Given the description of an element on the screen output the (x, y) to click on. 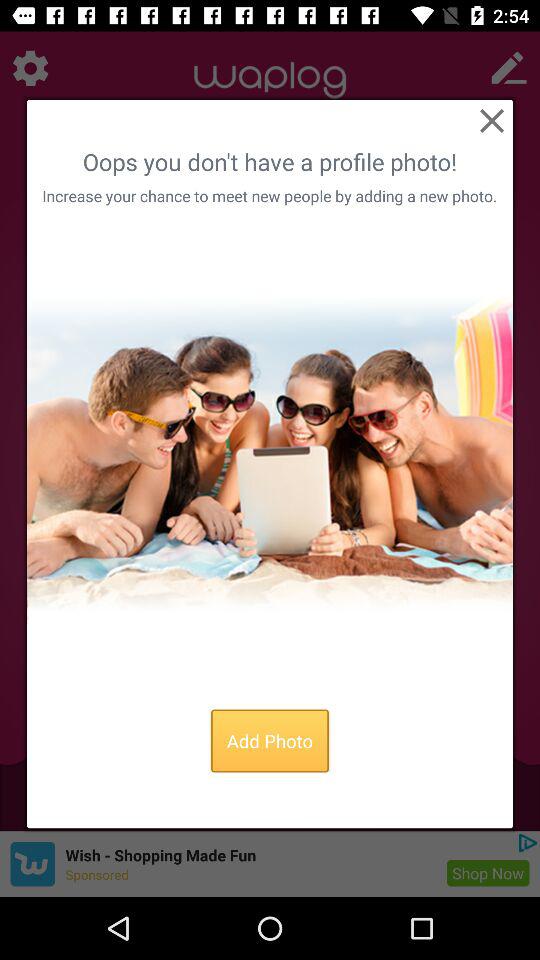
launch item below oops you don icon (269, 195)
